Given the description of an element on the screen output the (x, y) to click on. 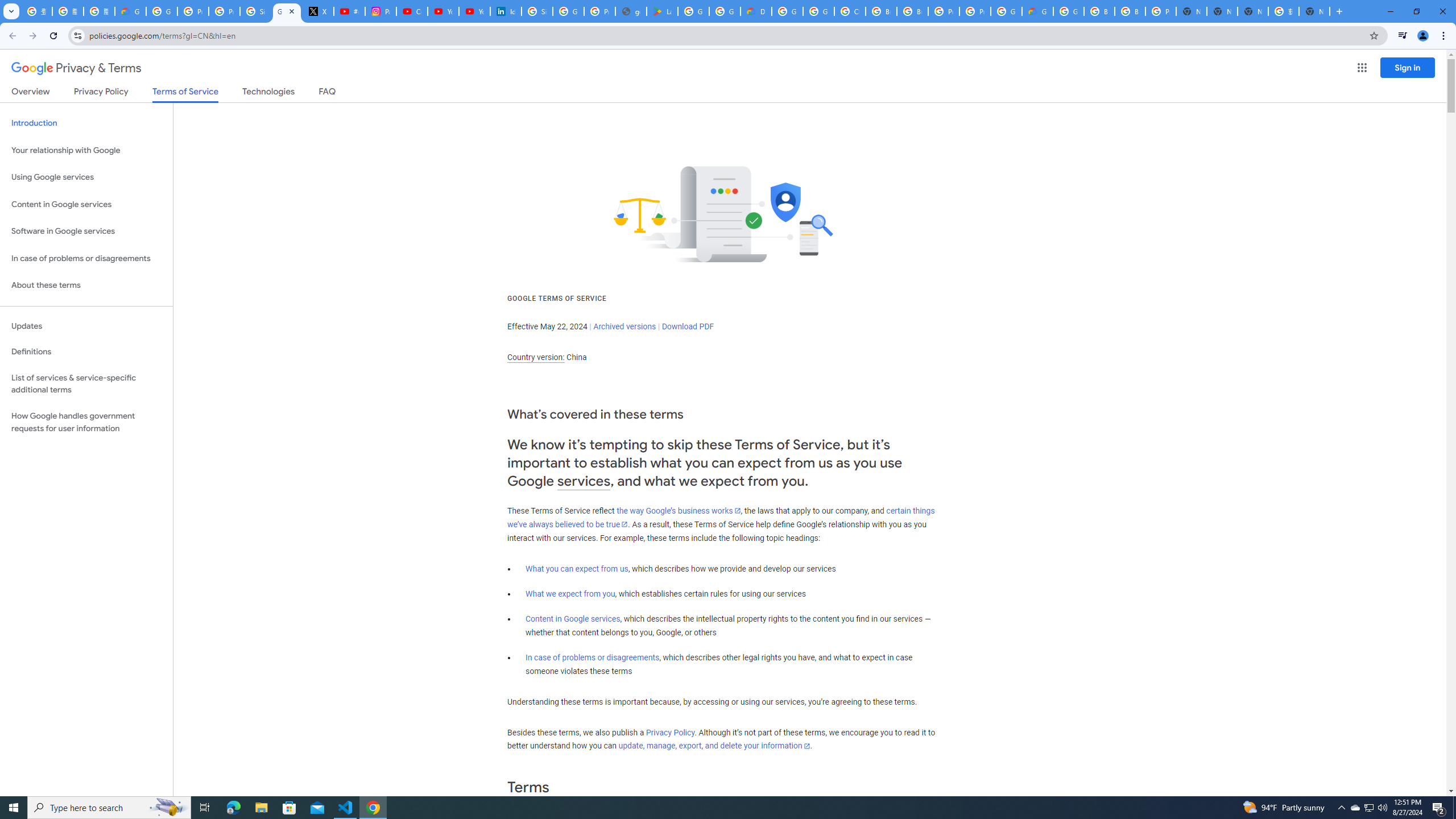
Last Shelter: Survival - Apps on Google Play (662, 11)
Browse Chrome as a guest - Computer - Google Chrome Help (1129, 11)
X (318, 11)
Browse Chrome as a guest - Computer - Google Chrome Help (881, 11)
